Given the description of an element on the screen output the (x, y) to click on. 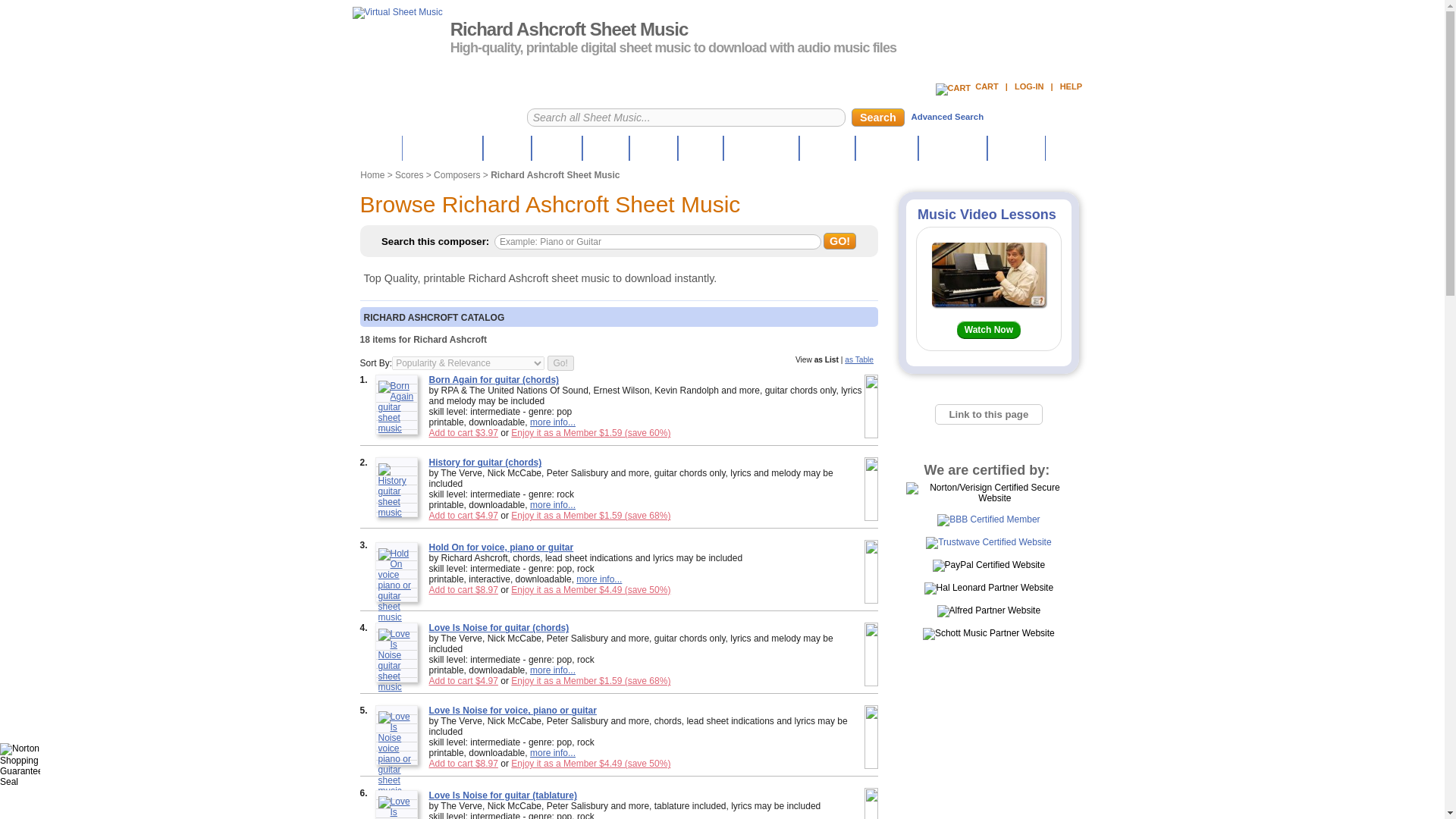
Example: Piano or Guitar (658, 242)
Example: Piano or Guitar (658, 242)
  CART (967, 85)
HELP (1070, 85)
View the contents of your shopping cart (967, 85)
Go! (560, 363)
Get Support (1070, 85)
LOG-IN (1029, 85)
Log into your account (1029, 85)
Search (877, 117)
